Given the description of an element on the screen output the (x, y) to click on. 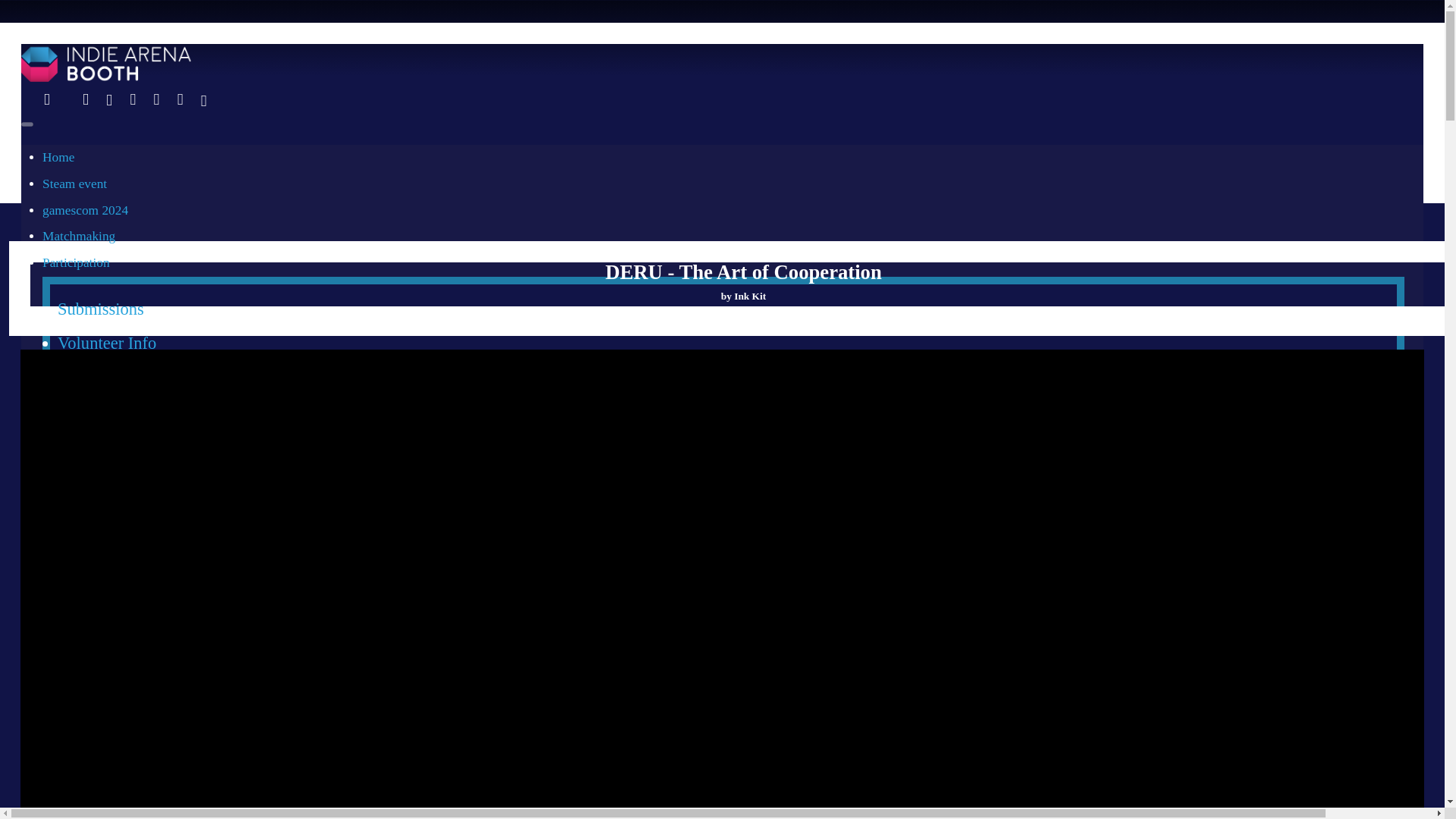
Team (77, 558)
Matchmaking (78, 236)
Participation (76, 262)
Steam event (74, 183)
Newsletter (95, 626)
Presskit (85, 592)
Volunteer Info (106, 342)
History (61, 387)
Home (58, 156)
Submissions (101, 308)
